Given the description of an element on the screen output the (x, y) to click on. 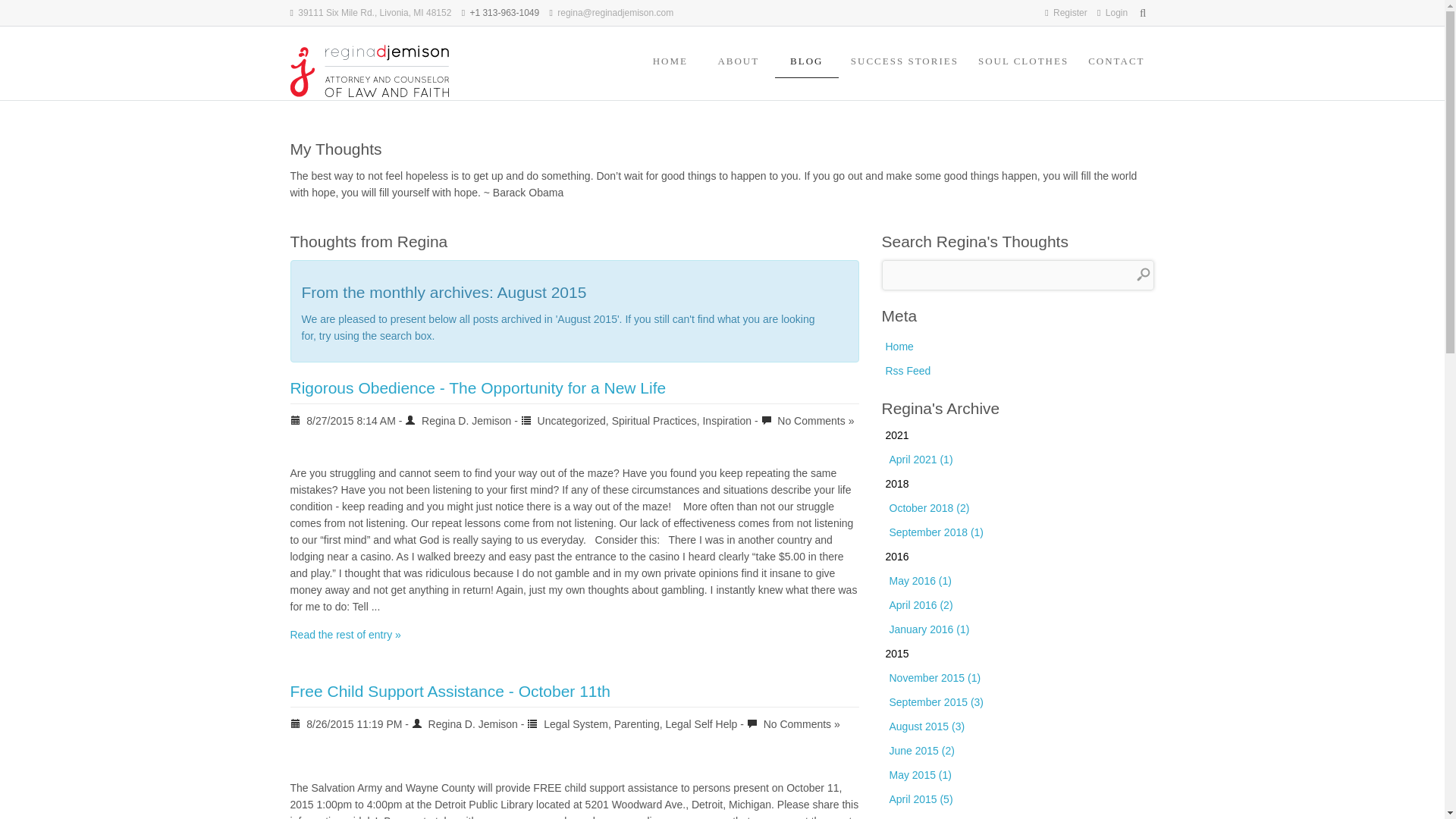
Spiritual Practices (654, 420)
View all posts in Inspiration (726, 420)
HOME (670, 60)
Regina D. Jemison, Counselor of Law and Faith (369, 70)
Login (1115, 12)
39111 Six Mile Rd., Livonia, MI 48152 (374, 12)
View all posts in Uncategorized (571, 420)
View all posts in Parenting (636, 724)
ABOUT (738, 60)
Free Child Support Assistance - October 11th (449, 691)
SUCCESS STORIES (904, 60)
Register (1069, 12)
View all posts in Spiritual Practices (654, 420)
